Given the description of an element on the screen output the (x, y) to click on. 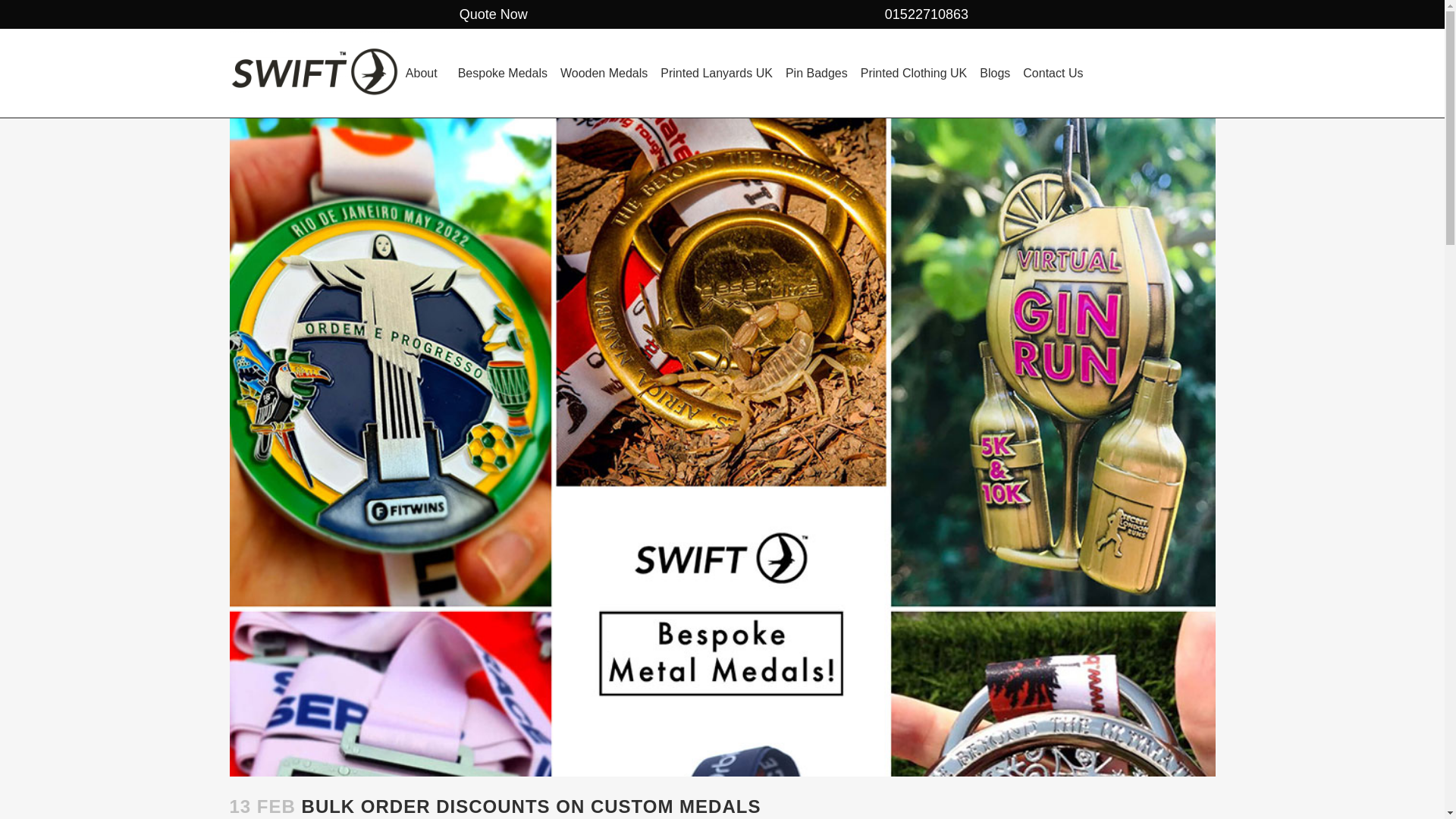
About (424, 73)
Wooden Medals (603, 73)
Bespoke Medals (502, 73)
Printed Lanyards UK (715, 73)
Blogs (995, 73)
Pin Badges (815, 73)
Quote Now (477, 14)
Printed Clothing UK (914, 73)
Contact Us (1052, 73)
01522710863 (911, 14)
